Given the description of an element on the screen output the (x, y) to click on. 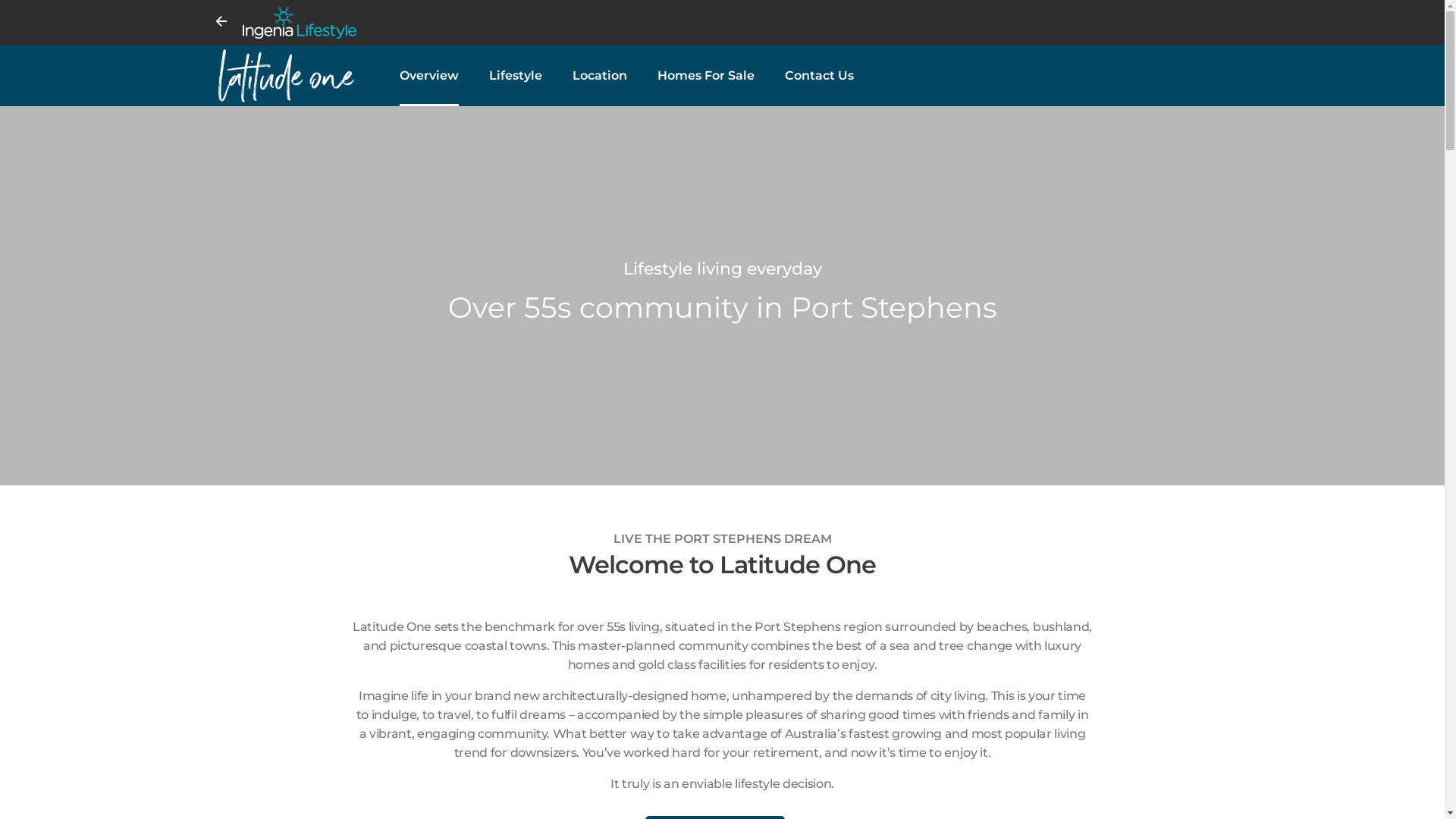
Homes For Sale Element type: text (705, 75)
Overview Element type: text (428, 75)
Lifestyle Element type: text (515, 75)
Ingenia Lifestyle Element type: hover (733, 22)
Location Element type: text (599, 75)
Contact Us Element type: text (818, 75)
